Given the description of an element on the screen output the (x, y) to click on. 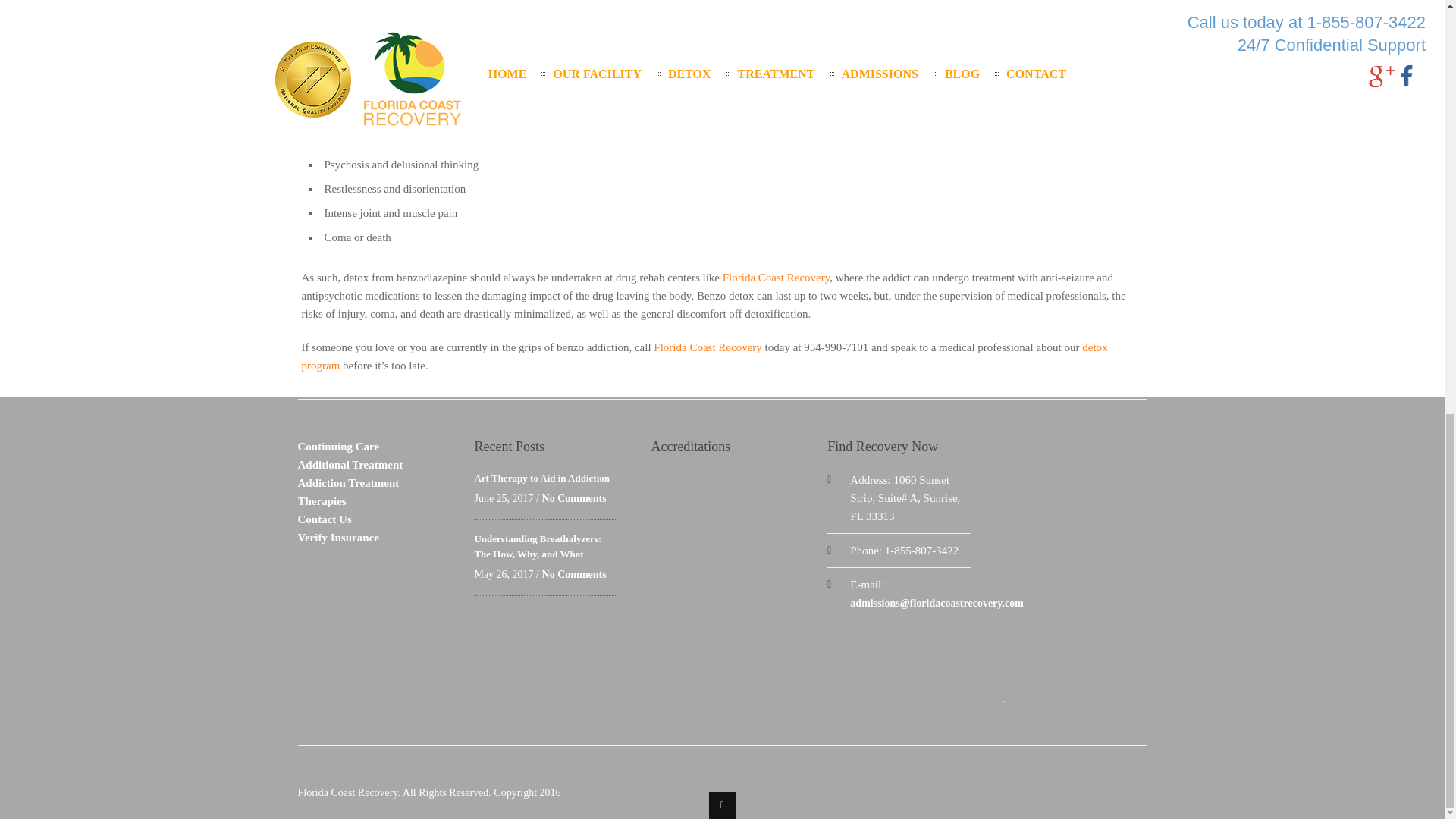
Continuing Care (337, 446)
No Comments (574, 573)
Additional Treatment (350, 464)
Verify Insurance (337, 537)
Art Therapy to Aid in Addiction (542, 478)
Understanding Breathalyzers: The How, Why, and What (537, 546)
detox program (704, 356)
Addiction Treatment Therapies (347, 491)
No Comments (574, 498)
Florida Coast Recovery (775, 277)
